Given the description of an element on the screen output the (x, y) to click on. 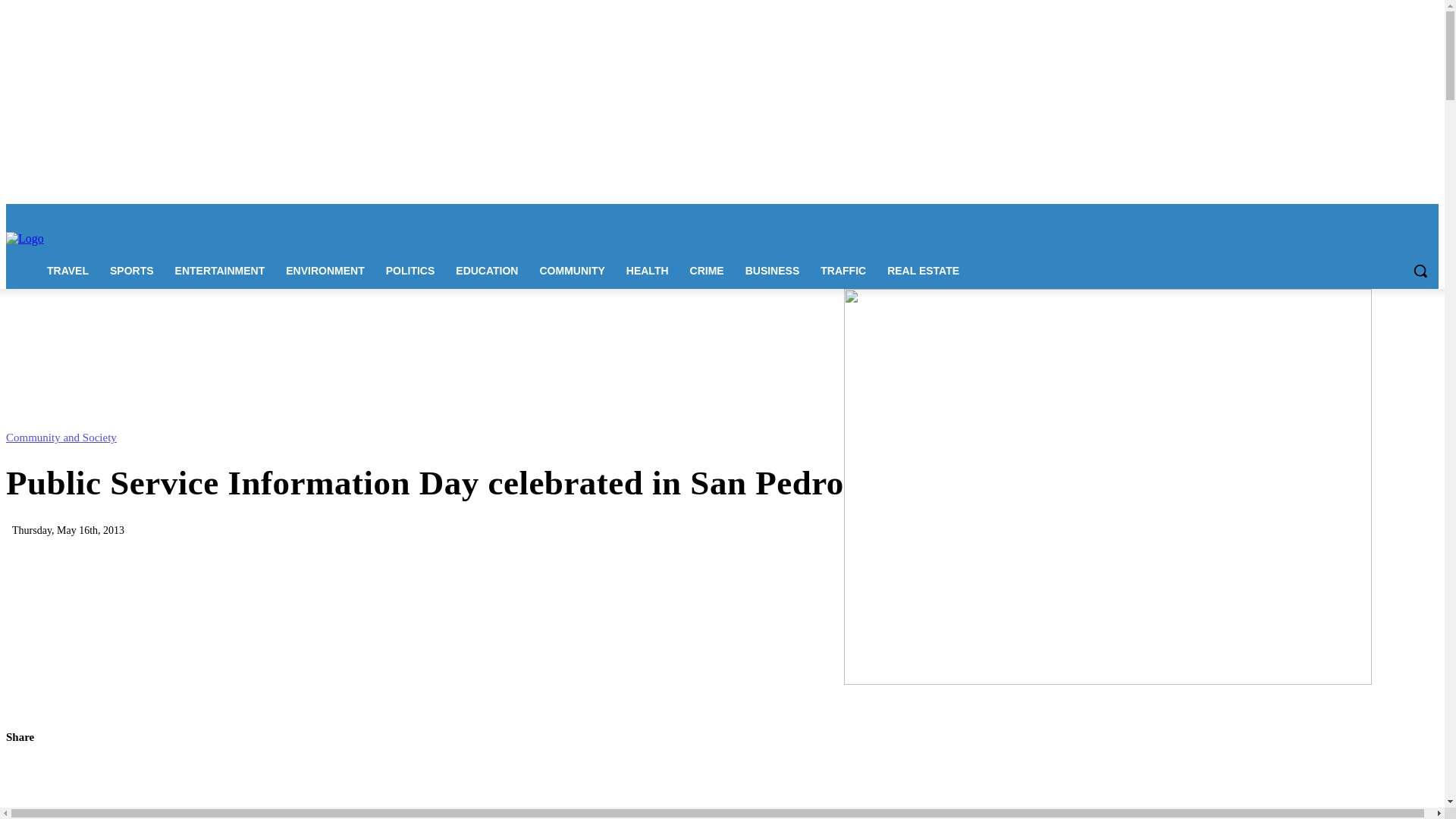
Twitter (1407, 214)
ENTERTAINMENT (220, 270)
COMMUNITY (571, 270)
ENVIRONMENT (324, 270)
HEALTH (647, 270)
Pinterest (1387, 214)
SPORTS (131, 270)
REAL ESTATE (922, 270)
About Us (163, 214)
POLITICS (410, 270)
TRAVEL (67, 270)
Advertising information (289, 214)
Contact Us (213, 214)
Liquor Licenses (372, 214)
BUSINESS (772, 270)
